Given the description of an element on the screen output the (x, y) to click on. 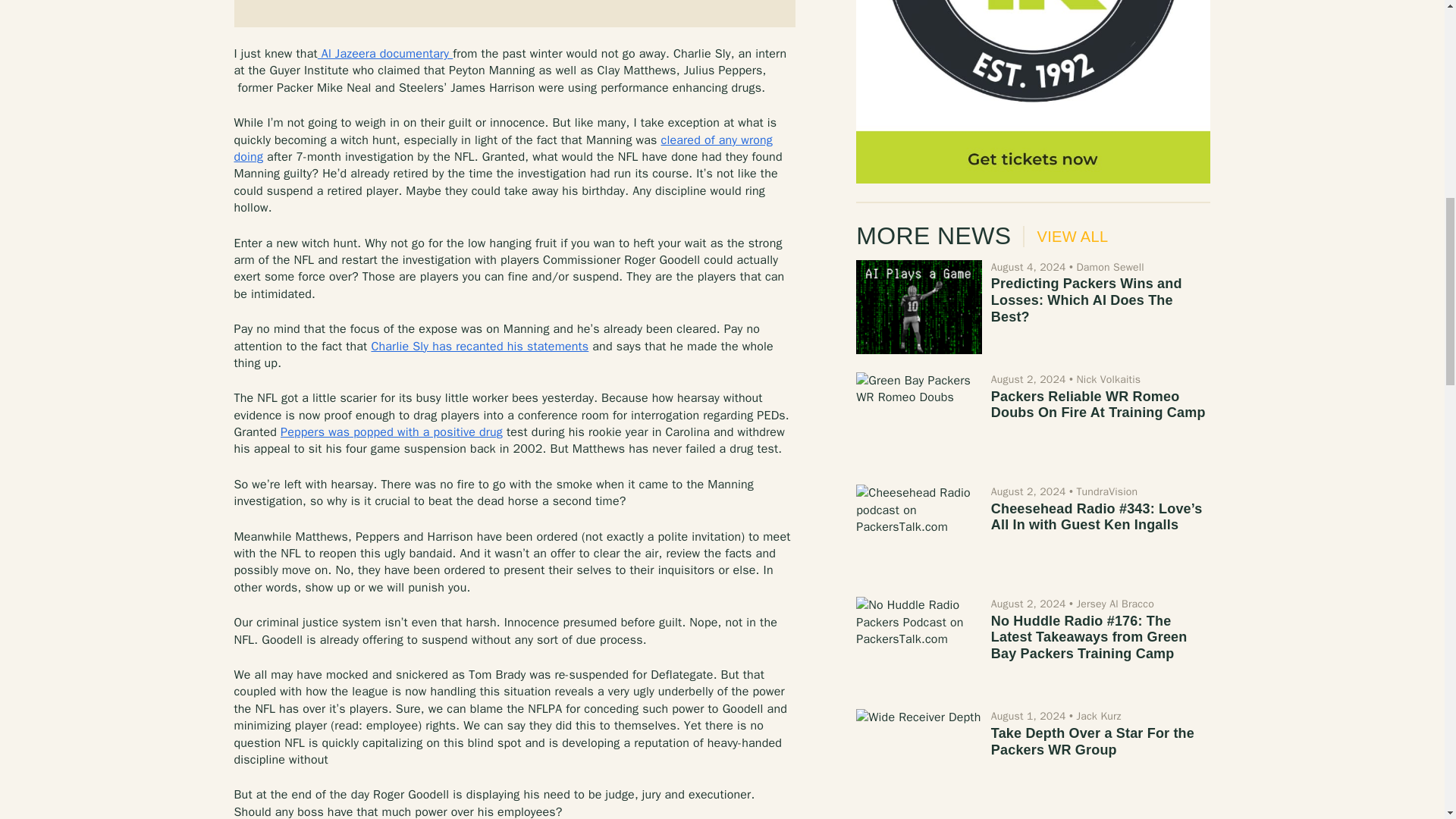
Predicting Packers Wins and Losses: Which AI Does The Best? (918, 306)
Al Jazeera documentary  (384, 53)
Packers Reliable WR Romeo Doubs On Fire At Training Camp (1098, 404)
Packers Reliable WR Romeo Doubs On Fire At Training Camp (918, 419)
cleared of any wrong doing (501, 148)
Damon Sewell (1108, 267)
Take Depth Over a Star For the Packers WR Group (1092, 741)
Predicting Packers Wins and Losses: Which AI Does The Best? (1086, 299)
Charlie Sly has recanted his statements (479, 346)
VIEW ALL (1065, 236)
